Given the description of an element on the screen output the (x, y) to click on. 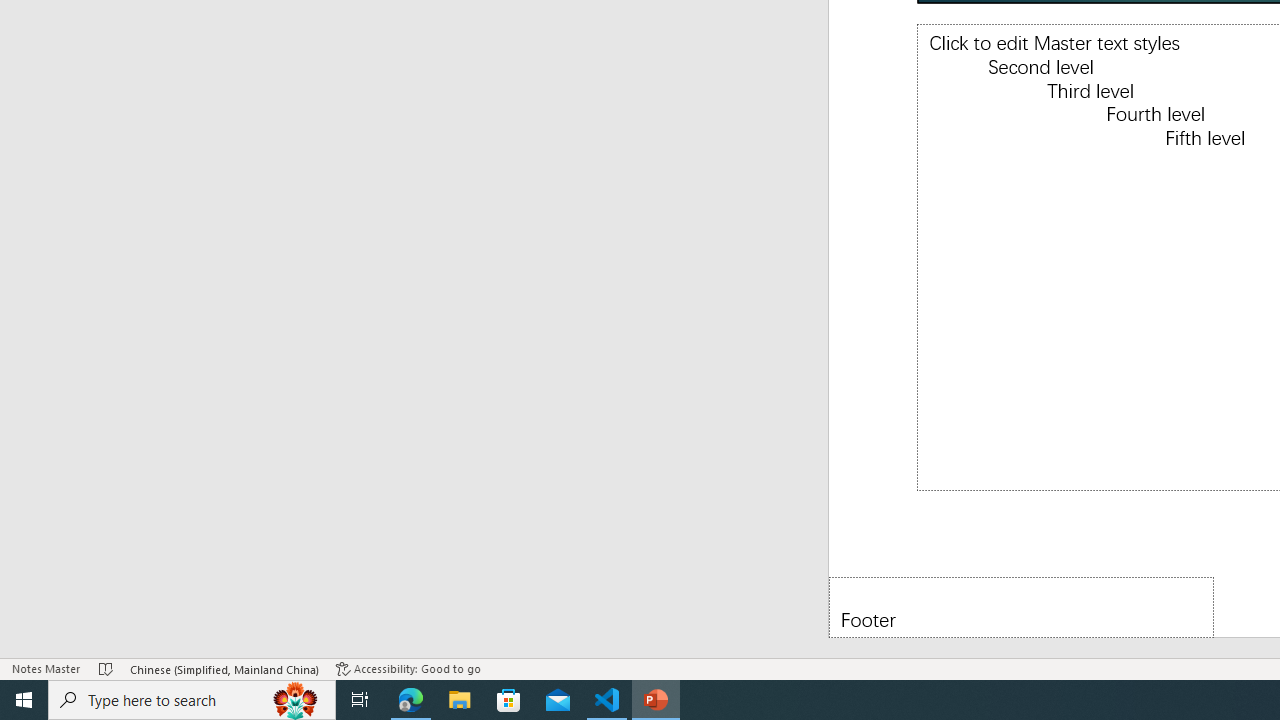
Footer (1021, 606)
Accessibility Checker Accessibility: Good to go (407, 668)
